Given the description of an element on the screen output the (x, y) to click on. 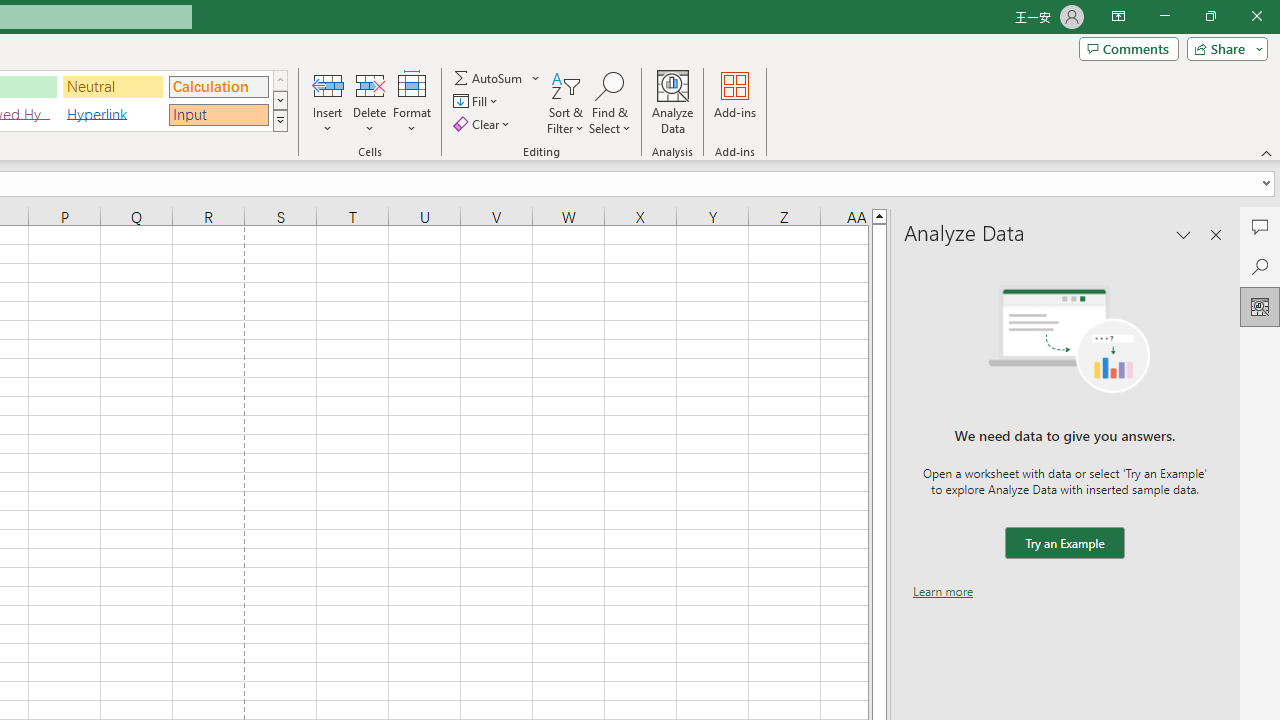
Hyperlink (113, 114)
Delete Cells... (369, 84)
Insert Cells (328, 84)
Input (218, 114)
